Given the description of an element on the screen output the (x, y) to click on. 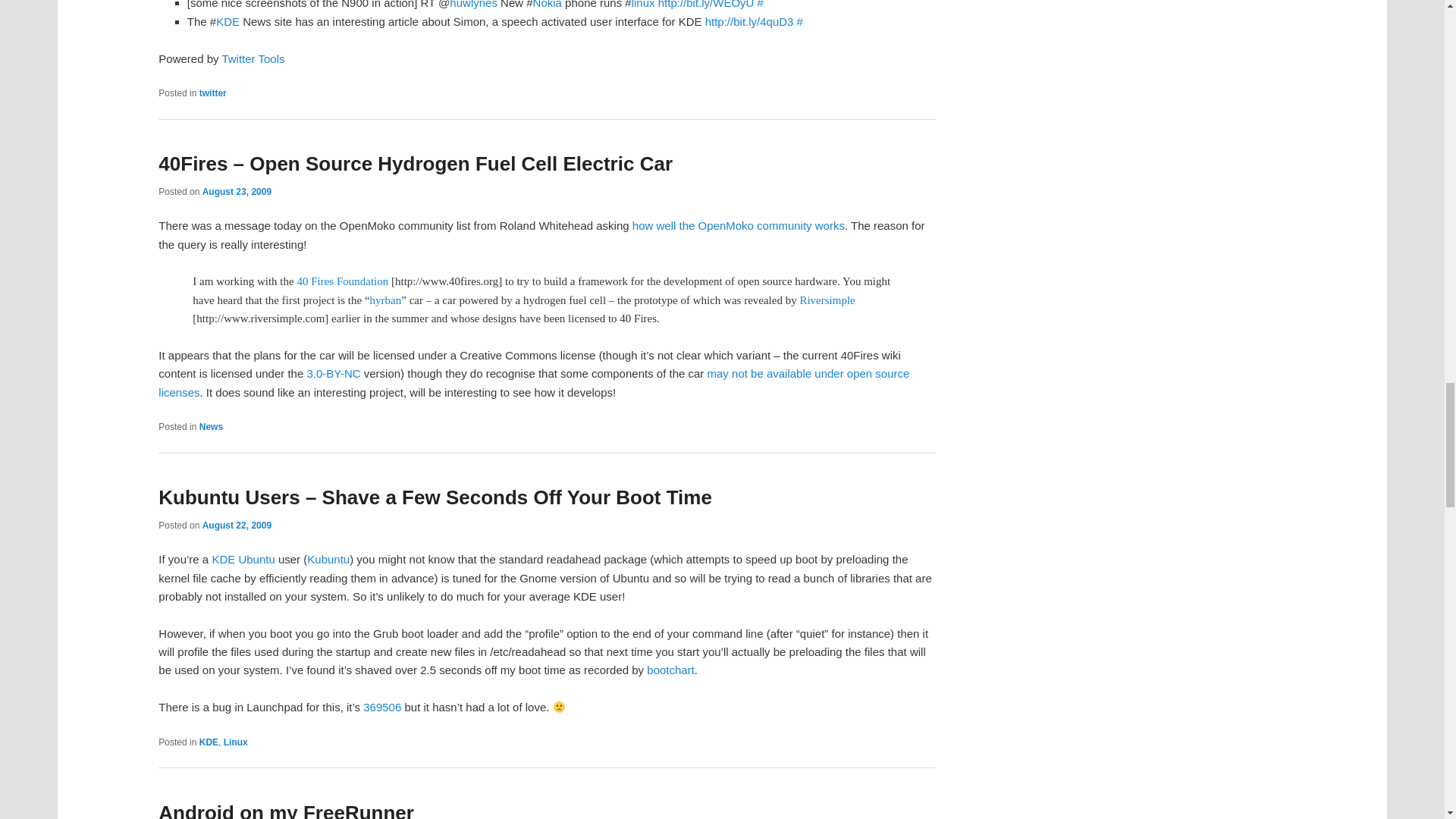
10:37 pm (236, 525)
10:37 am (236, 191)
